Given the description of an element on the screen output the (x, y) to click on. 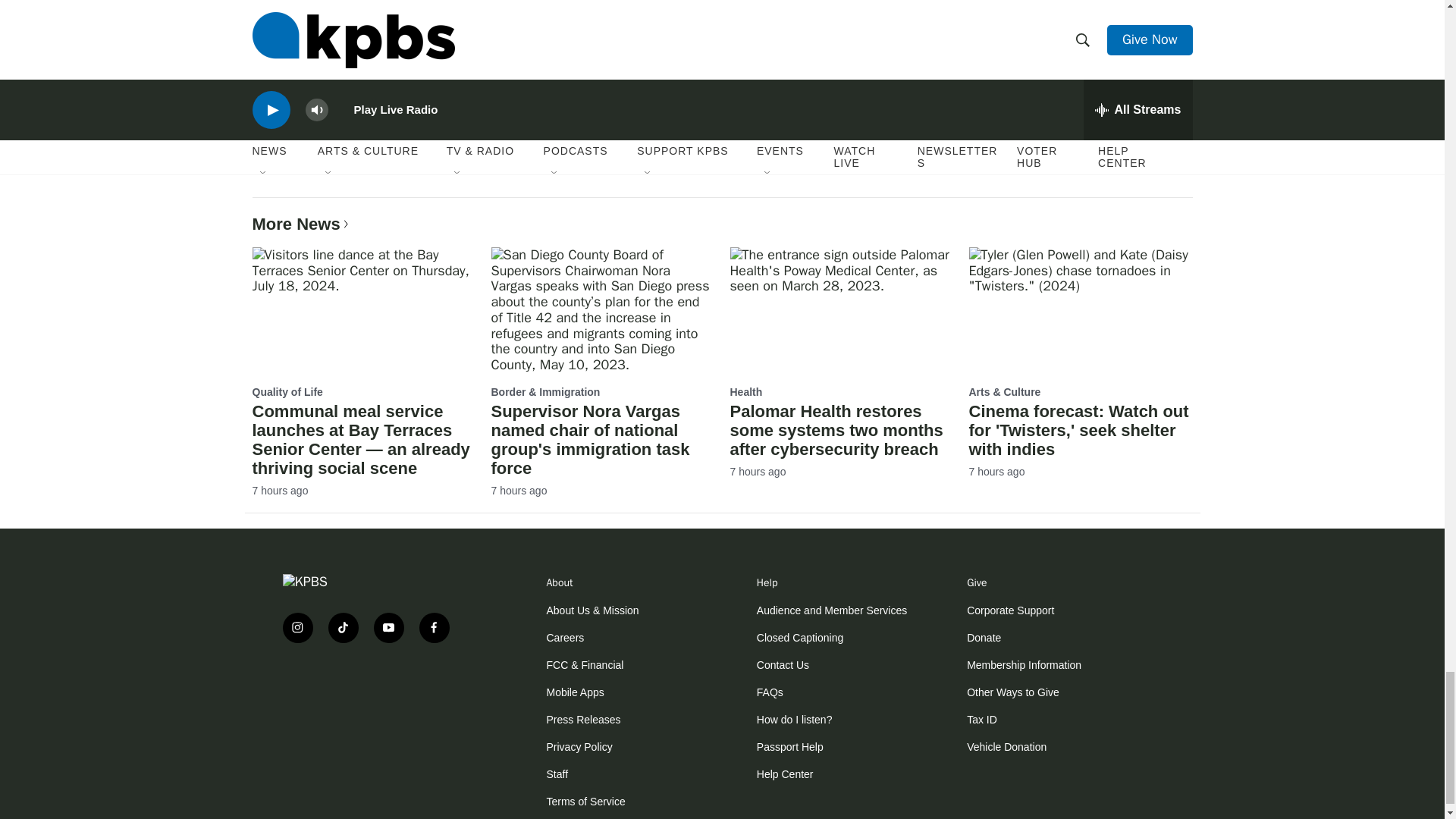
3rd party ad content (373, 703)
